Given the description of an element on the screen output the (x, y) to click on. 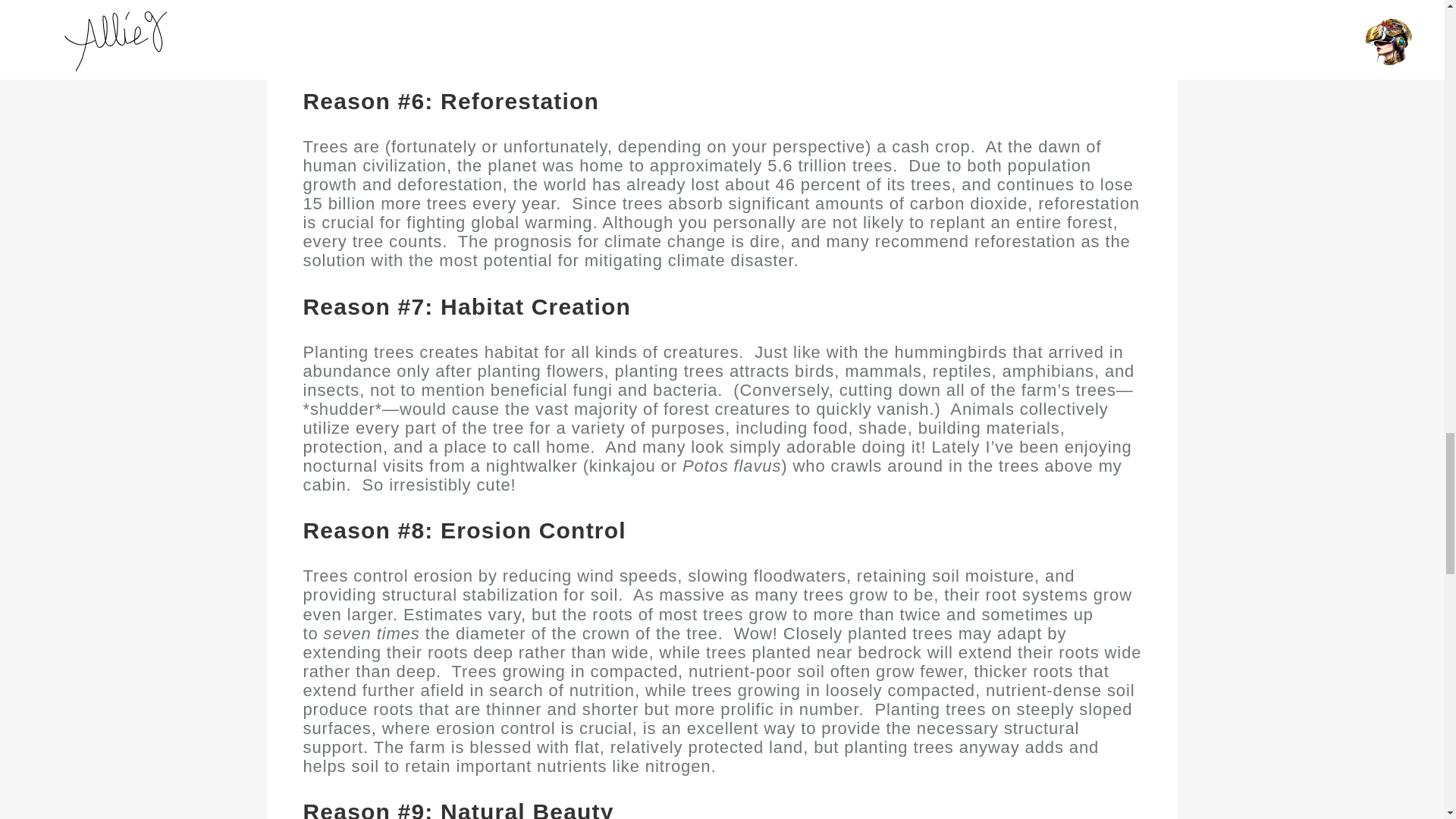
planting flowers (540, 382)
